Given the description of an element on the screen output the (x, y) to click on. 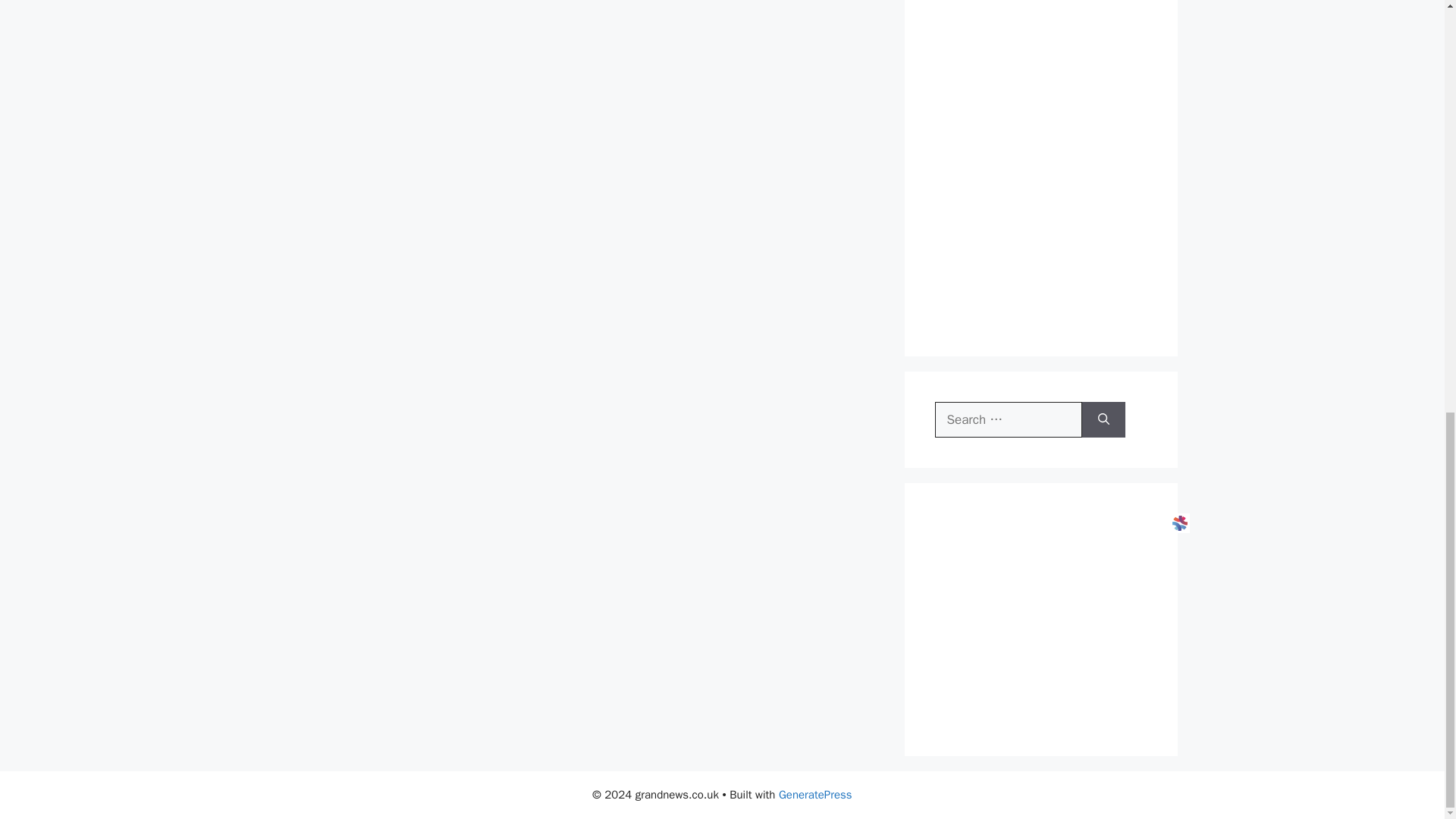
GeneratePress (814, 794)
Search for: (1007, 419)
